Given the description of an element on the screen output the (x, y) to click on. 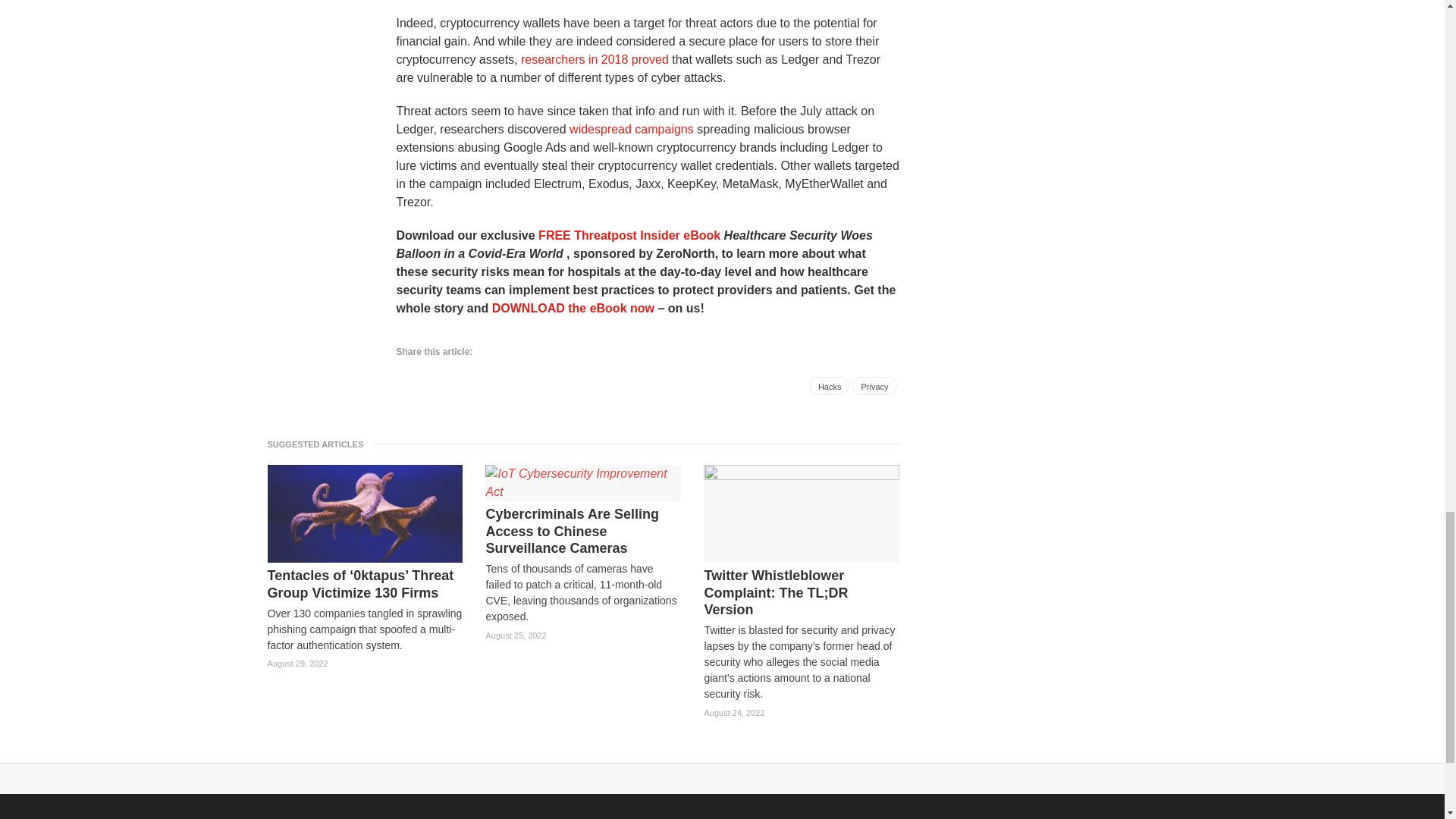
DOWNLOAD the eBook now (572, 308)
SUGGESTED ARTICLES (319, 443)
Hacks (829, 385)
FREE Threatpost Insider eBook (629, 235)
widespread campaigns (631, 128)
Privacy (873, 385)
researchers in 2018 proved (594, 59)
